Given the description of an element on the screen output the (x, y) to click on. 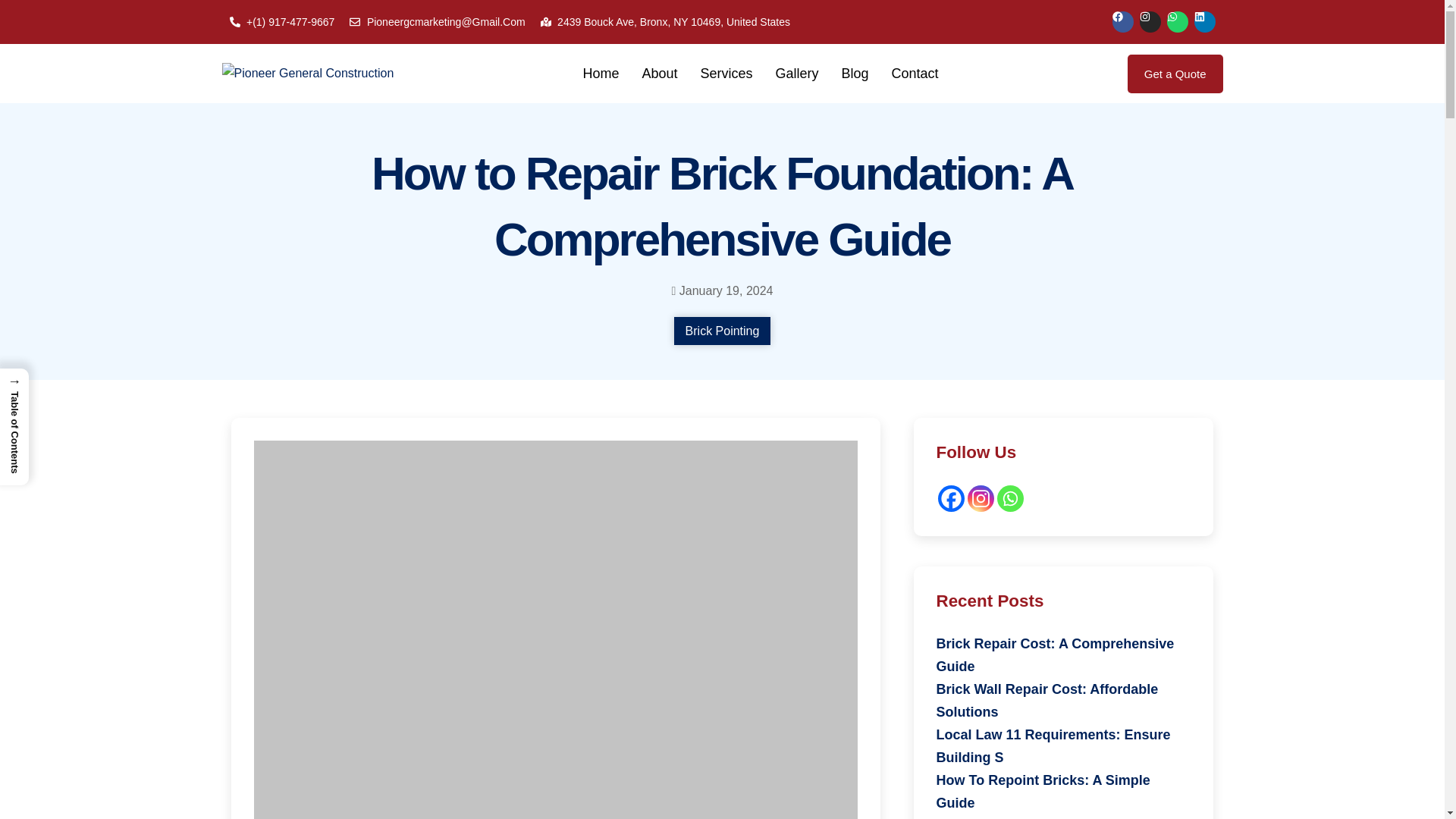
Services (725, 73)
Home (600, 73)
Pioneer General Construction (307, 73)
2439 Bouck Ave, Bronx, NY 10469, United States (665, 21)
About (659, 73)
Gallery (796, 73)
Get a Quote (1174, 73)
Contact (915, 73)
Brick Pointing (722, 330)
Blog (854, 73)
